Given the description of an element on the screen output the (x, y) to click on. 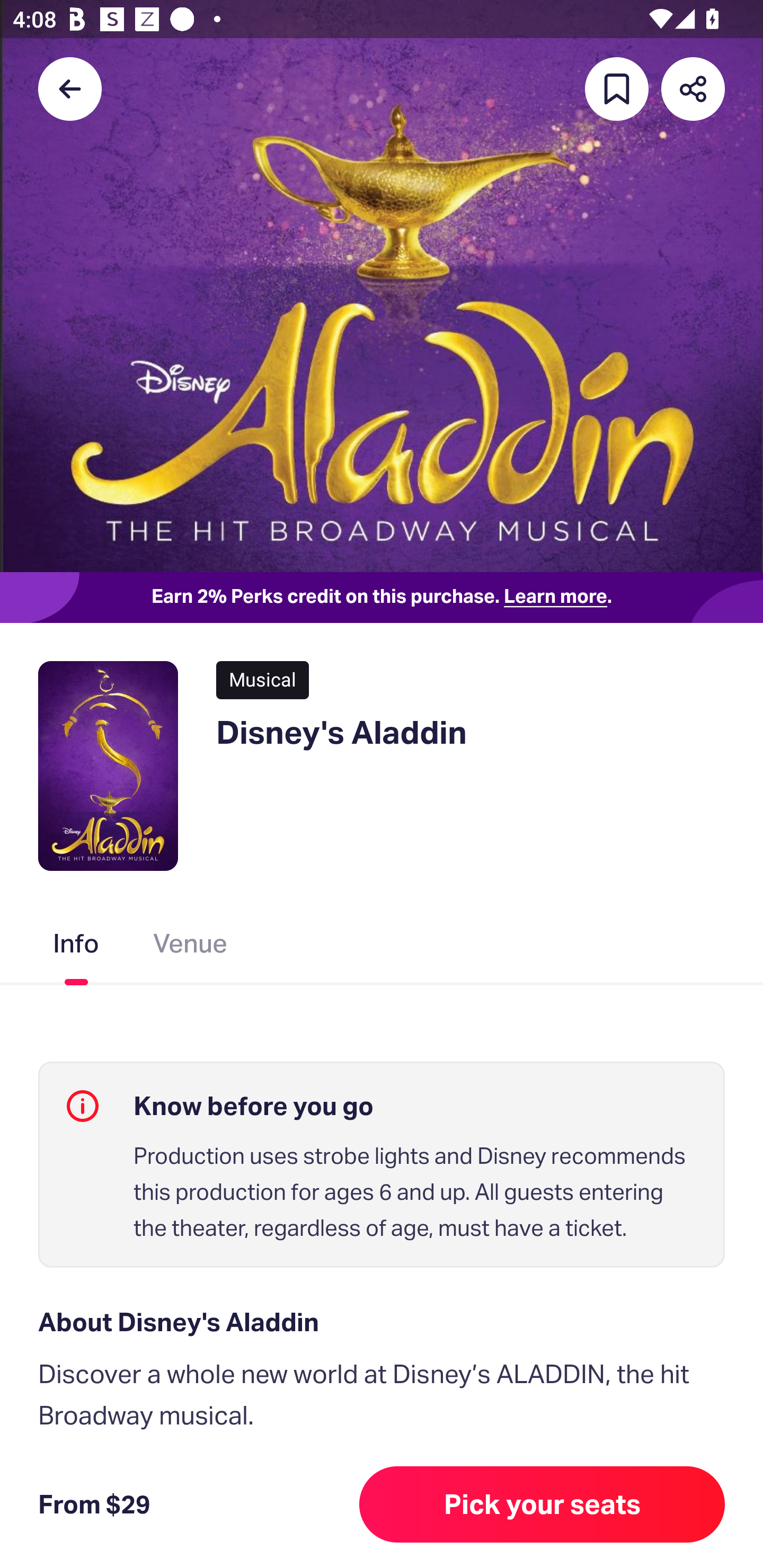
Earn 2% Perks credit on this purchase. Learn more. (381, 597)
Venue (190, 946)
About Disney's Aladdin (381, 1322)
Pick your seats (541, 1504)
